Given the description of an element on the screen output the (x, y) to click on. 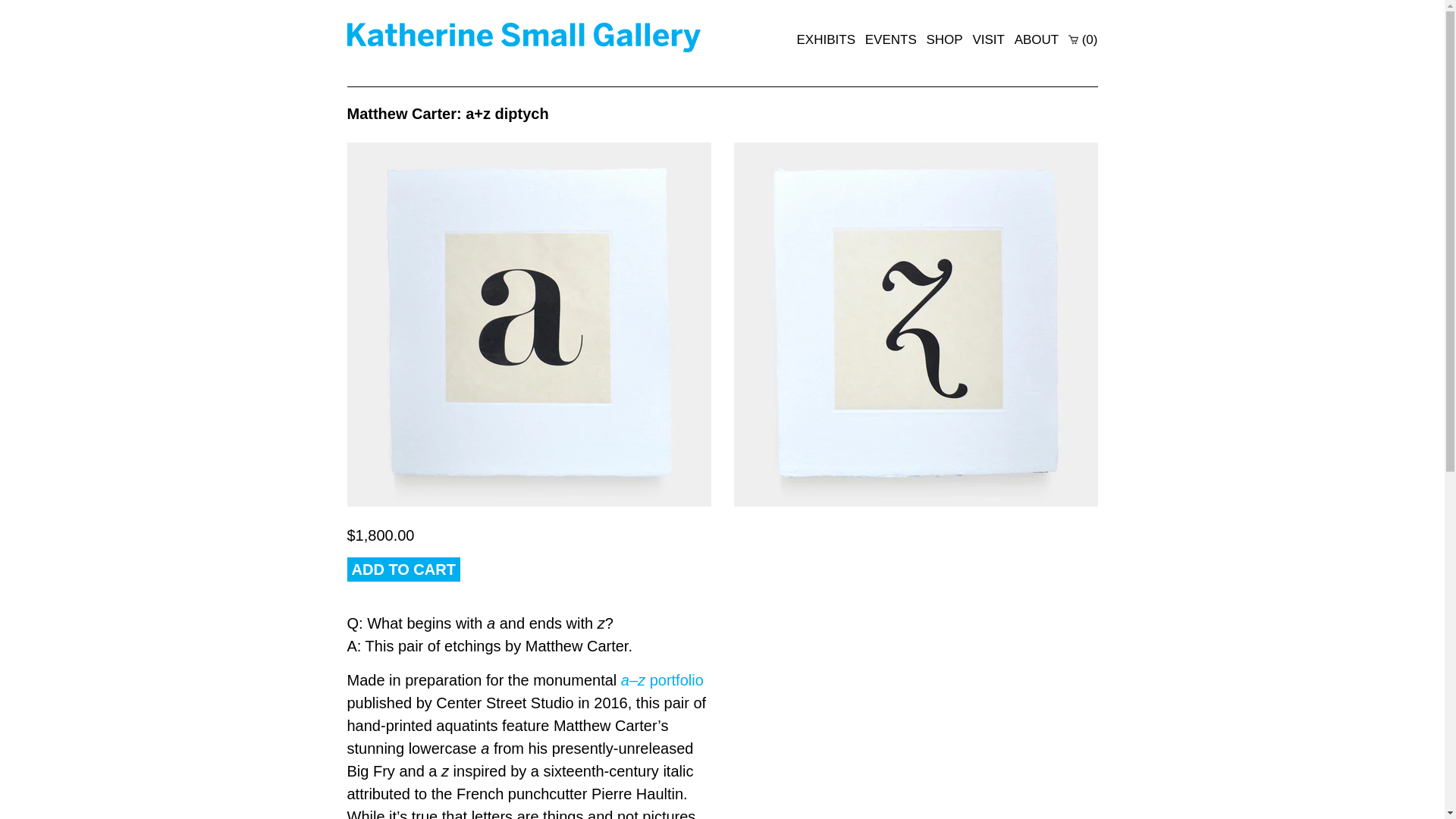
ABOUT (1036, 39)
ADD TO CART (403, 569)
EXHIBITS (826, 39)
EVENTS (890, 39)
VISIT (988, 39)
SHOP (944, 39)
